Given the description of an element on the screen output the (x, y) to click on. 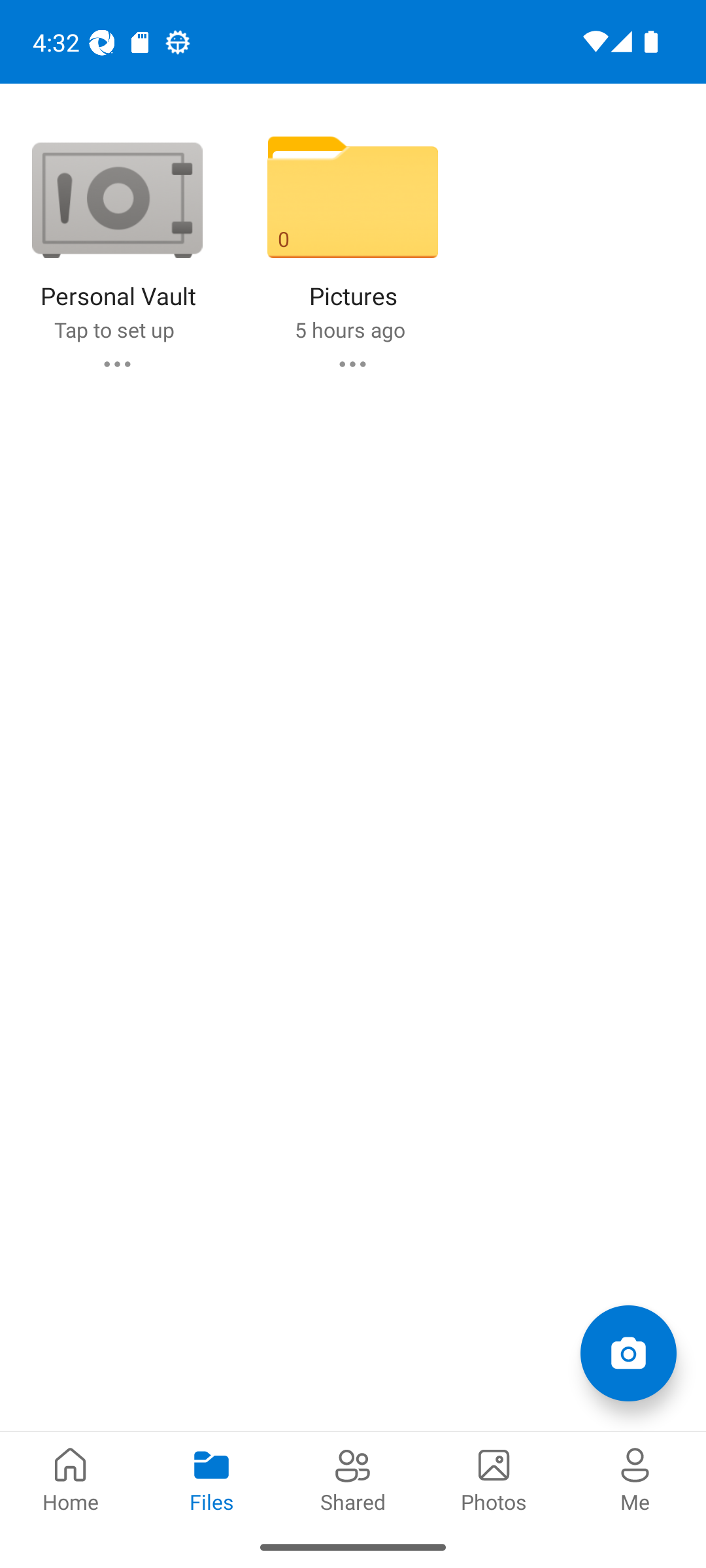
Tap to set up (113, 329)
5 hours ago (349, 329)
Personal Vault commands (116, 363)
Pictures commands (352, 363)
Add items Scan (628, 1352)
Home pivot Home (70, 1478)
Shared pivot Shared (352, 1478)
Photos pivot Photos (493, 1478)
Me pivot Me (635, 1478)
